Given the description of an element on the screen output the (x, y) to click on. 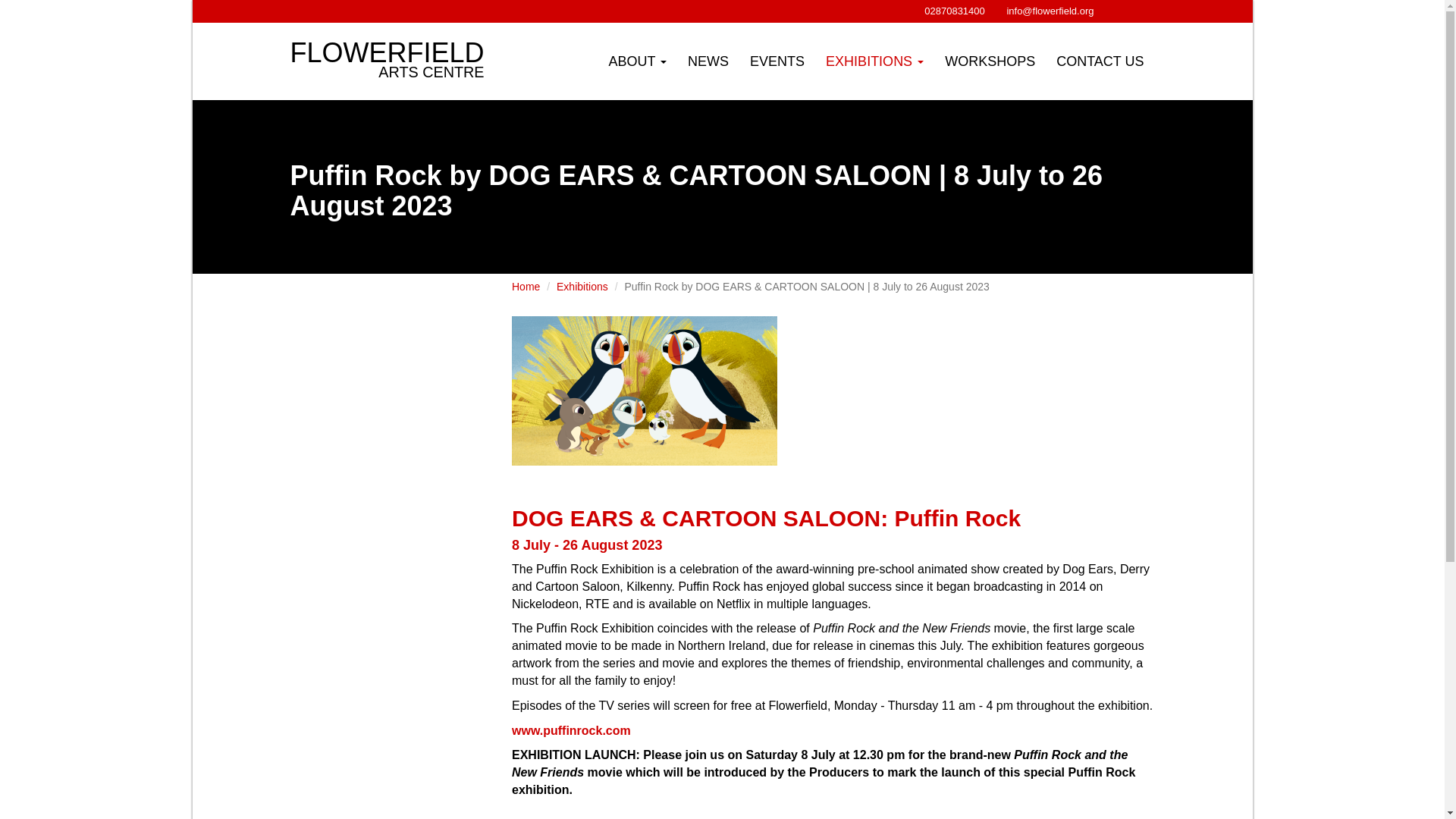
EXHIBITIONS (387, 41)
ABOUT (874, 60)
02870831400 (636, 60)
EVENTS (953, 10)
